Given the description of an element on the screen output the (x, y) to click on. 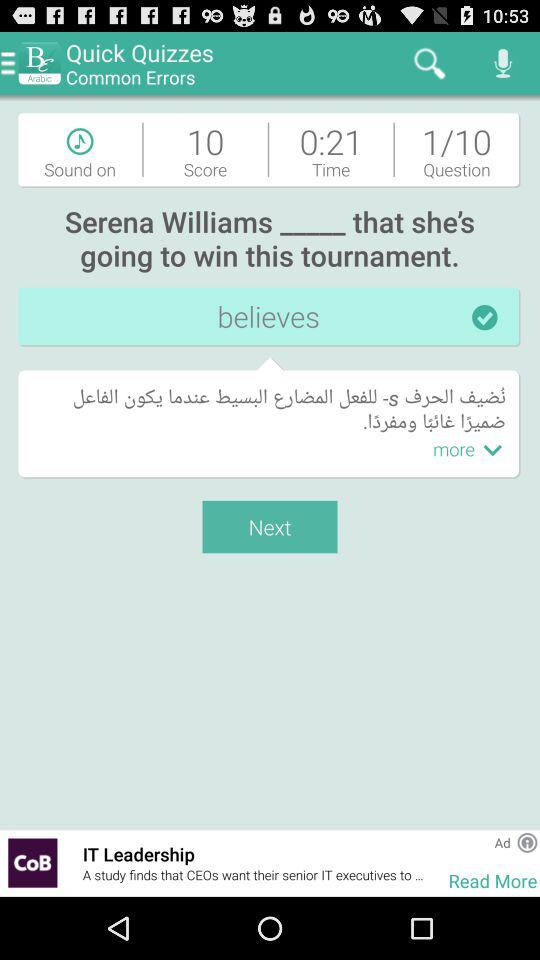
open about advertisement (527, 842)
